Given the description of an element on the screen output the (x, y) to click on. 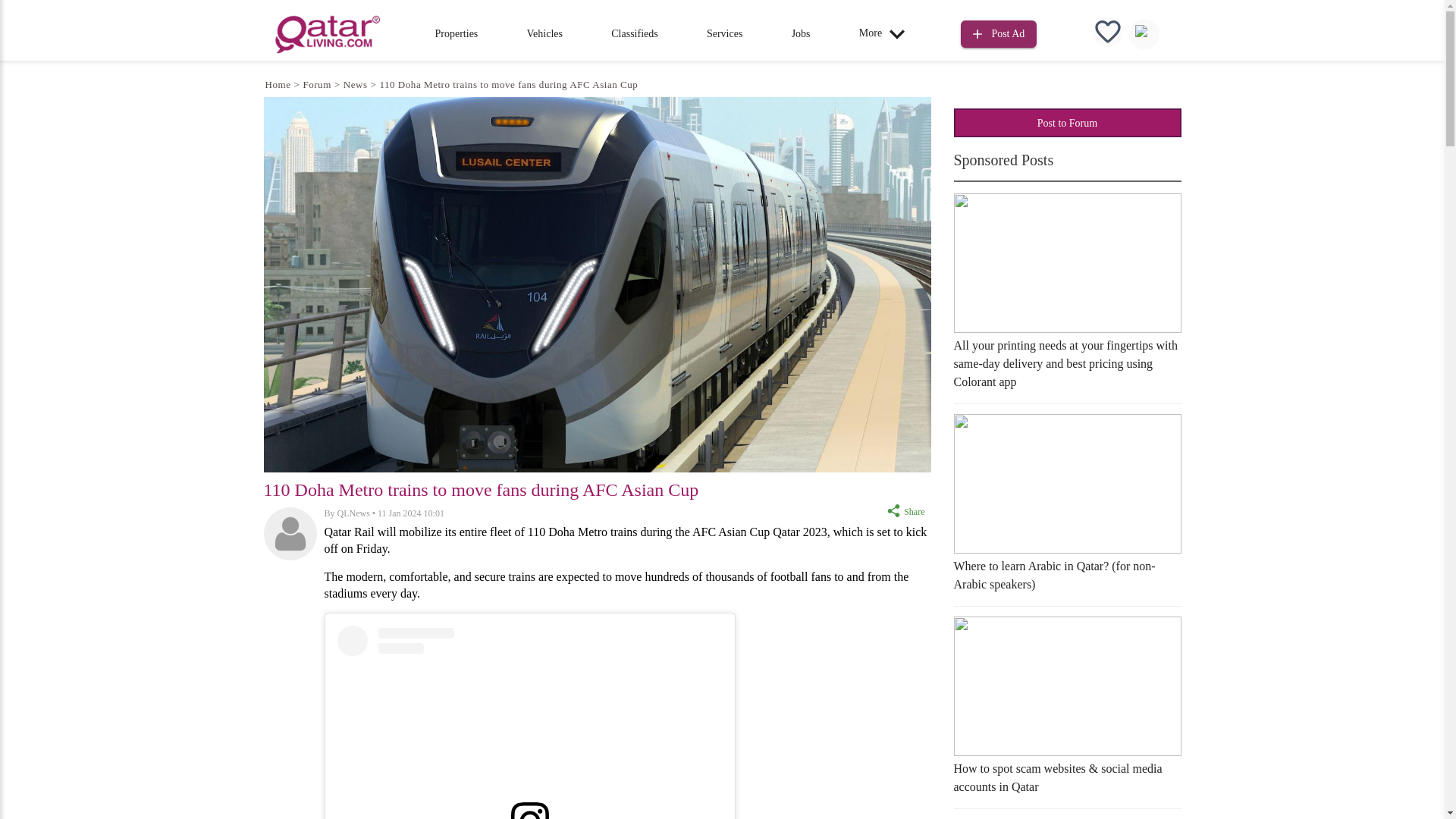
View user profile. (353, 512)
More (885, 33)
Classifieds (634, 33)
Post Ad (998, 34)
Post Ad (998, 32)
